Given the description of an element on the screen output the (x, y) to click on. 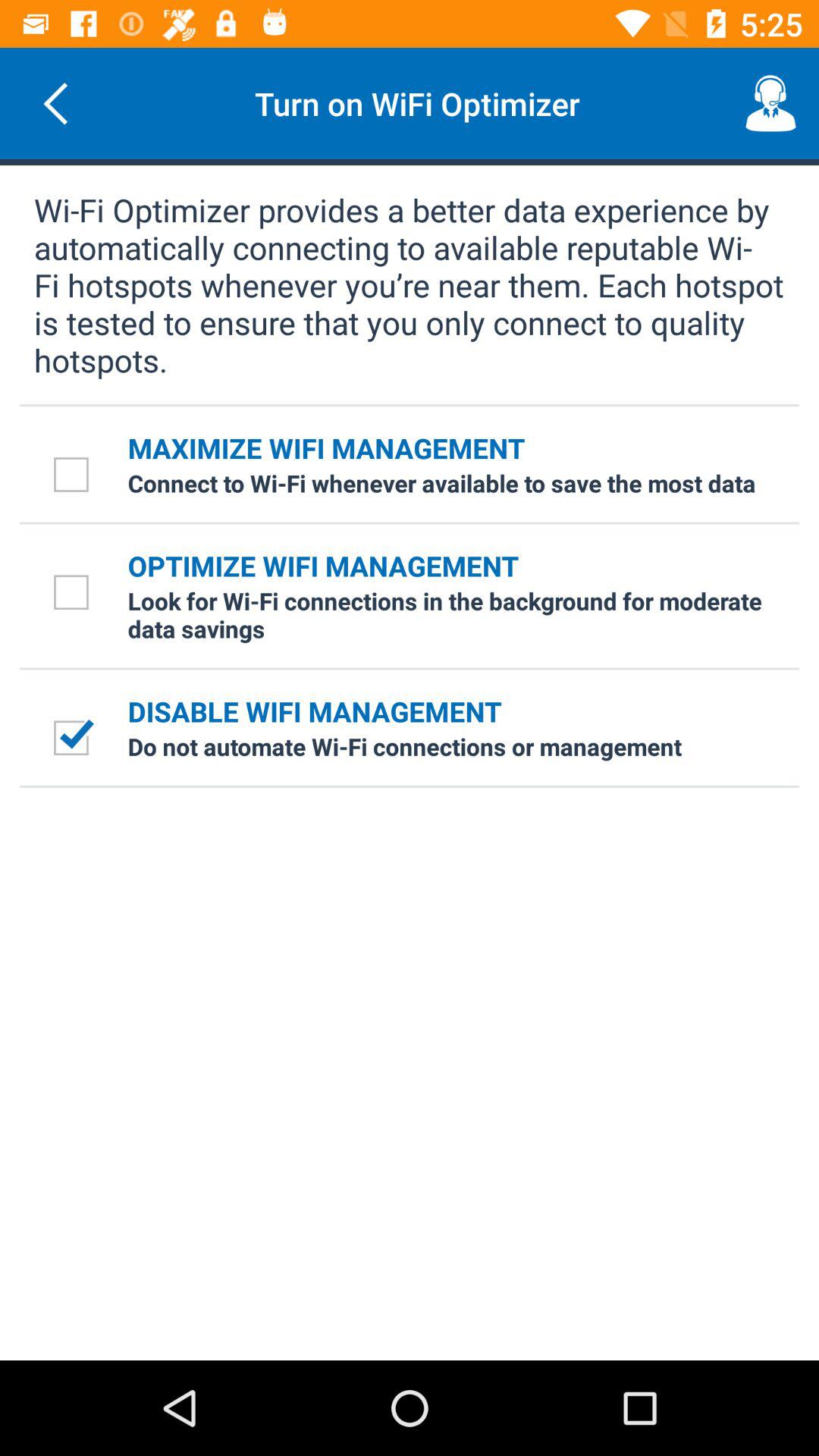
select the item next to the turn on wifi item (771, 103)
